Given the description of an element on the screen output the (x, y) to click on. 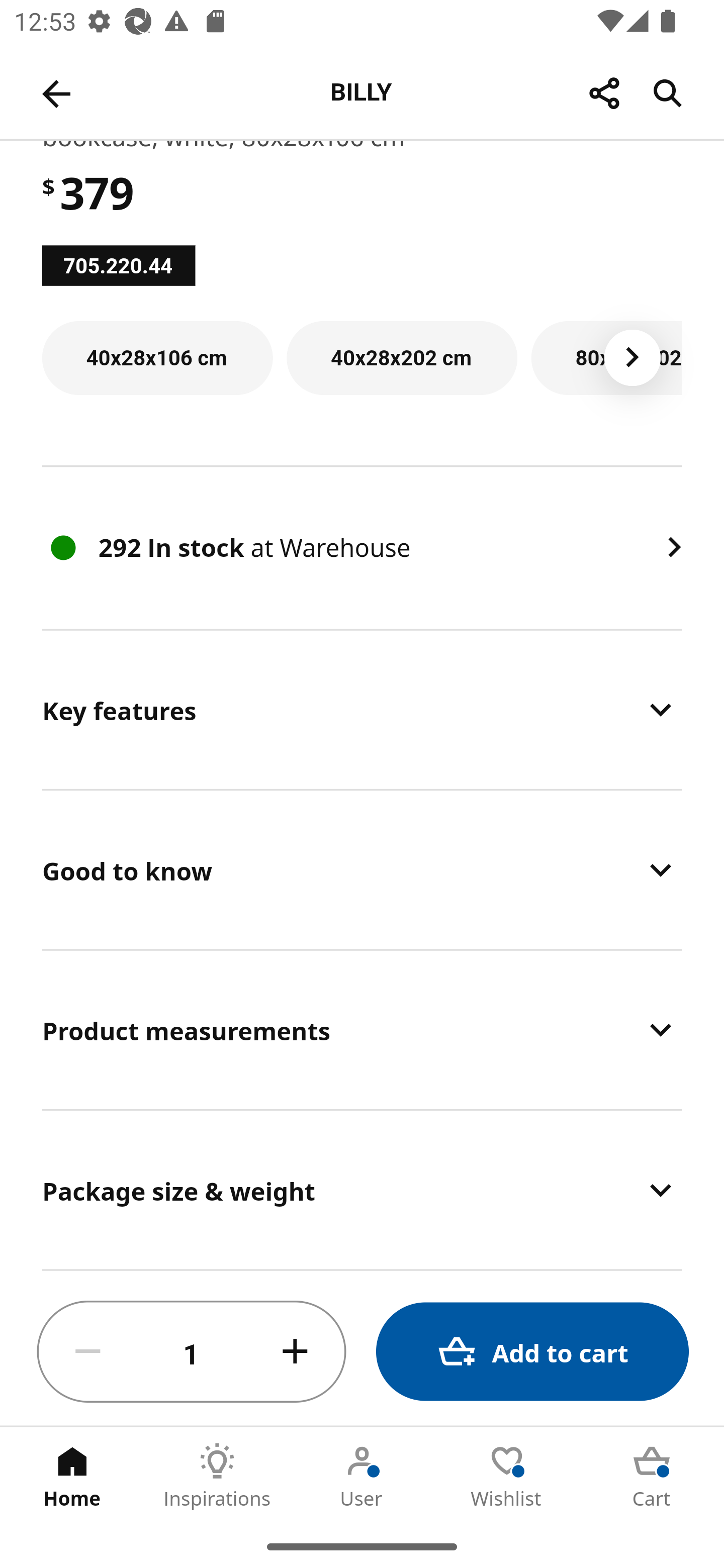
40x28x106 cm (156, 358)
40x28x202 cm (402, 358)
80x28x202 cm (606, 358)
292 In stock at Warehouse (361, 547)
Key features (361, 709)
Good to know (361, 869)
Product measurements (361, 1029)
Package size & weight (361, 1189)
Add to cart (531, 1352)
1 (191, 1352)
Home
Tab 1 of 5 (72, 1476)
Inspirations
Tab 2 of 5 (216, 1476)
User
Tab 3 of 5 (361, 1476)
Wishlist
Tab 4 of 5 (506, 1476)
Cart
Tab 5 of 5 (651, 1476)
